Given the description of an element on the screen output the (x, y) to click on. 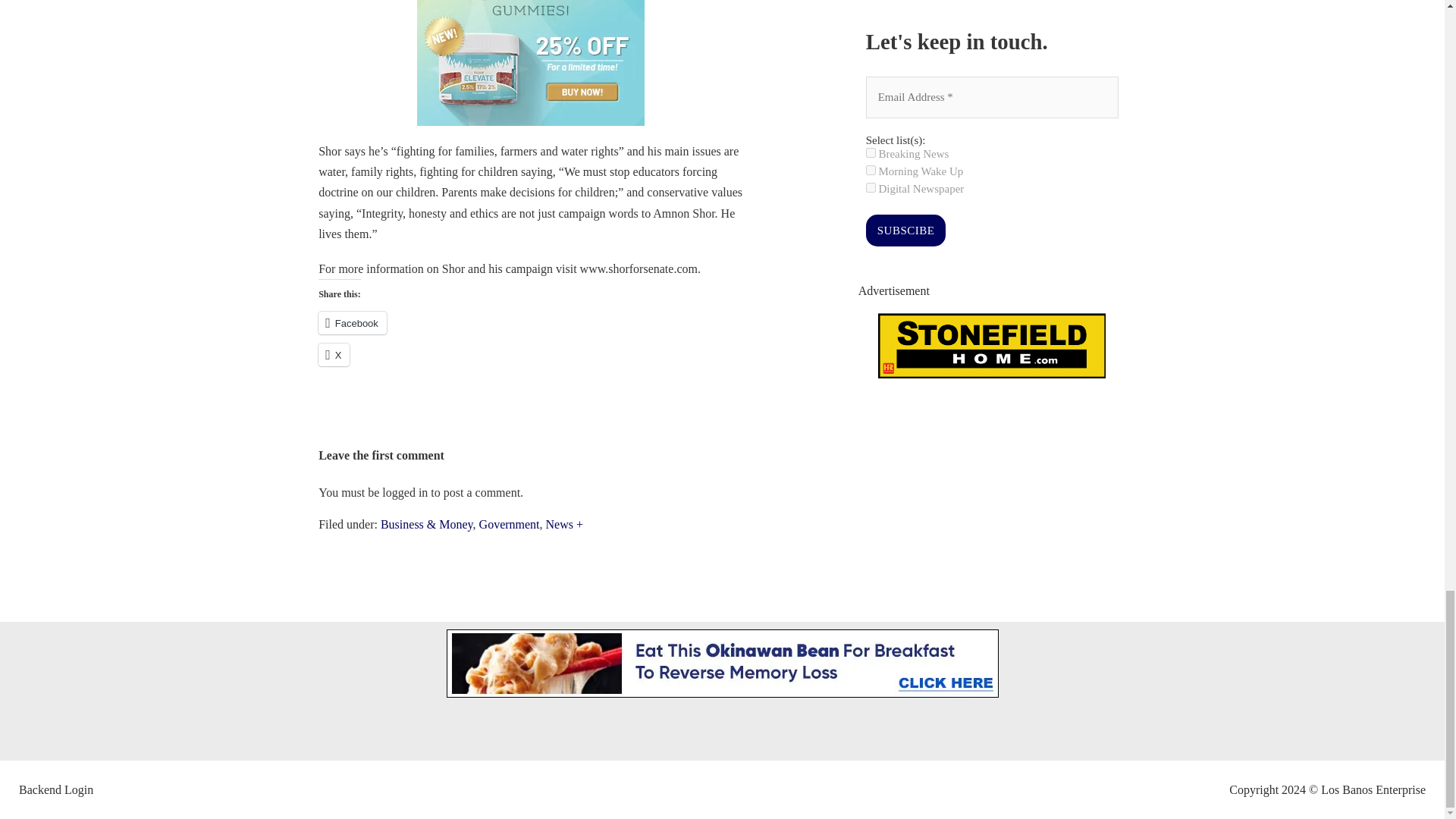
Click to share on Facebook (352, 323)
Click to share on X (333, 354)
